Given the description of an element on the screen output the (x, y) to click on. 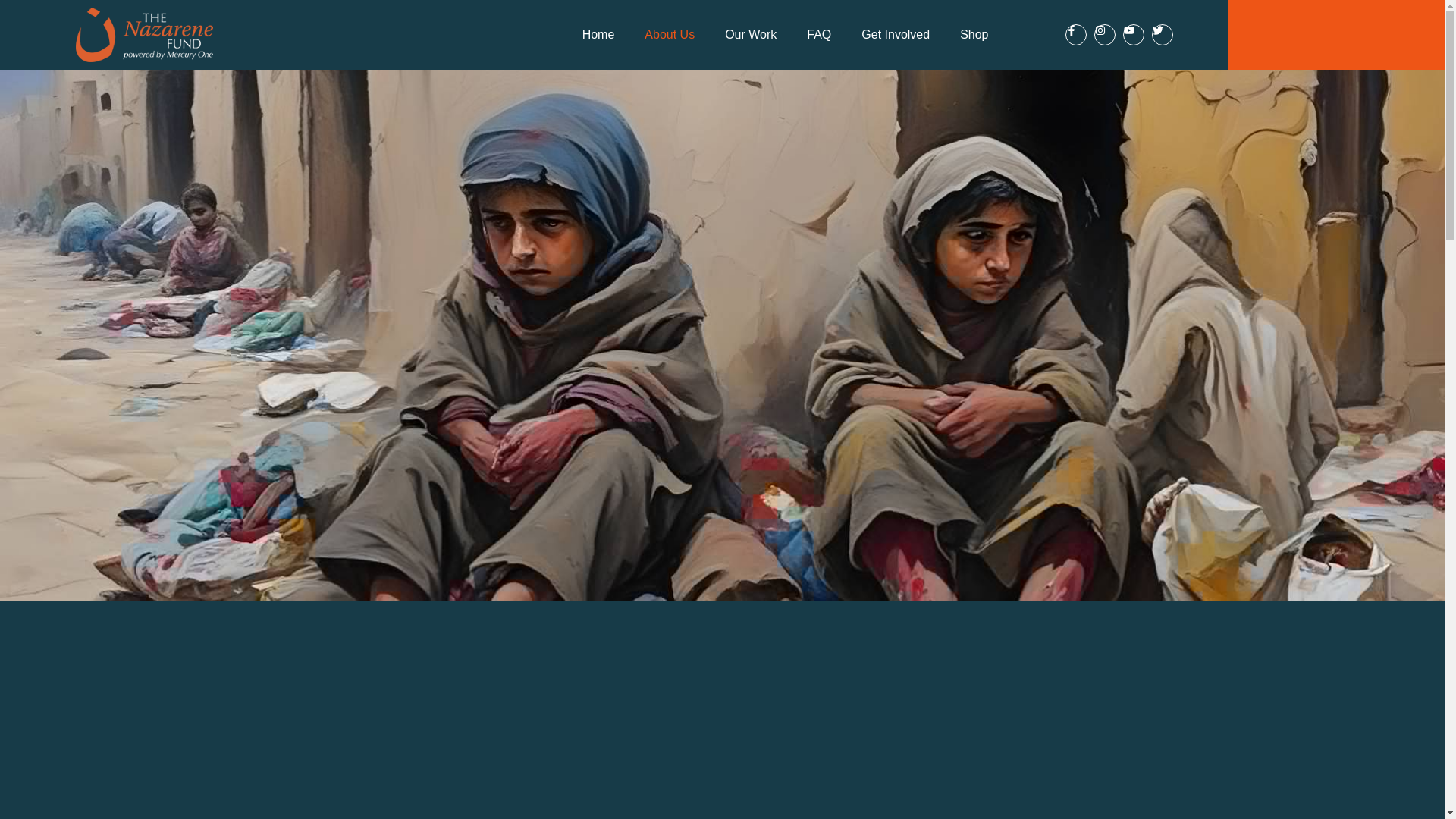
Get Involved (894, 34)
Shop (973, 34)
FAQ (818, 34)
Our Work (751, 34)
Home (598, 34)
About Us (669, 34)
